Given the description of an element on the screen output the (x, y) to click on. 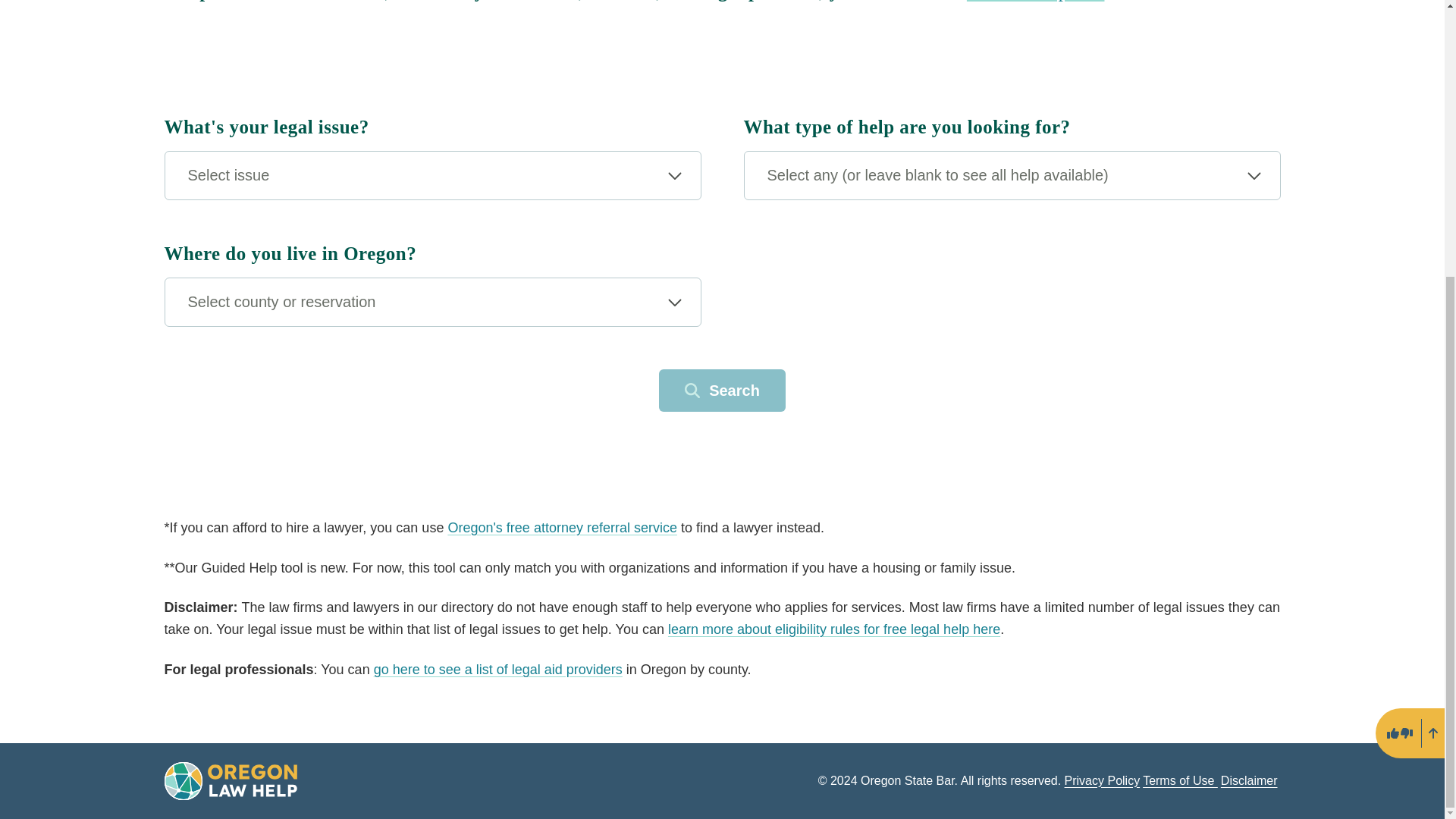
Associated Legal Aid Providers (498, 669)
Guided Help (1035, 0)
Find out if you qualify for free or low-cost help (834, 629)
Lawyer Referral Service (561, 527)
